Given the description of an element on the screen output the (x, y) to click on. 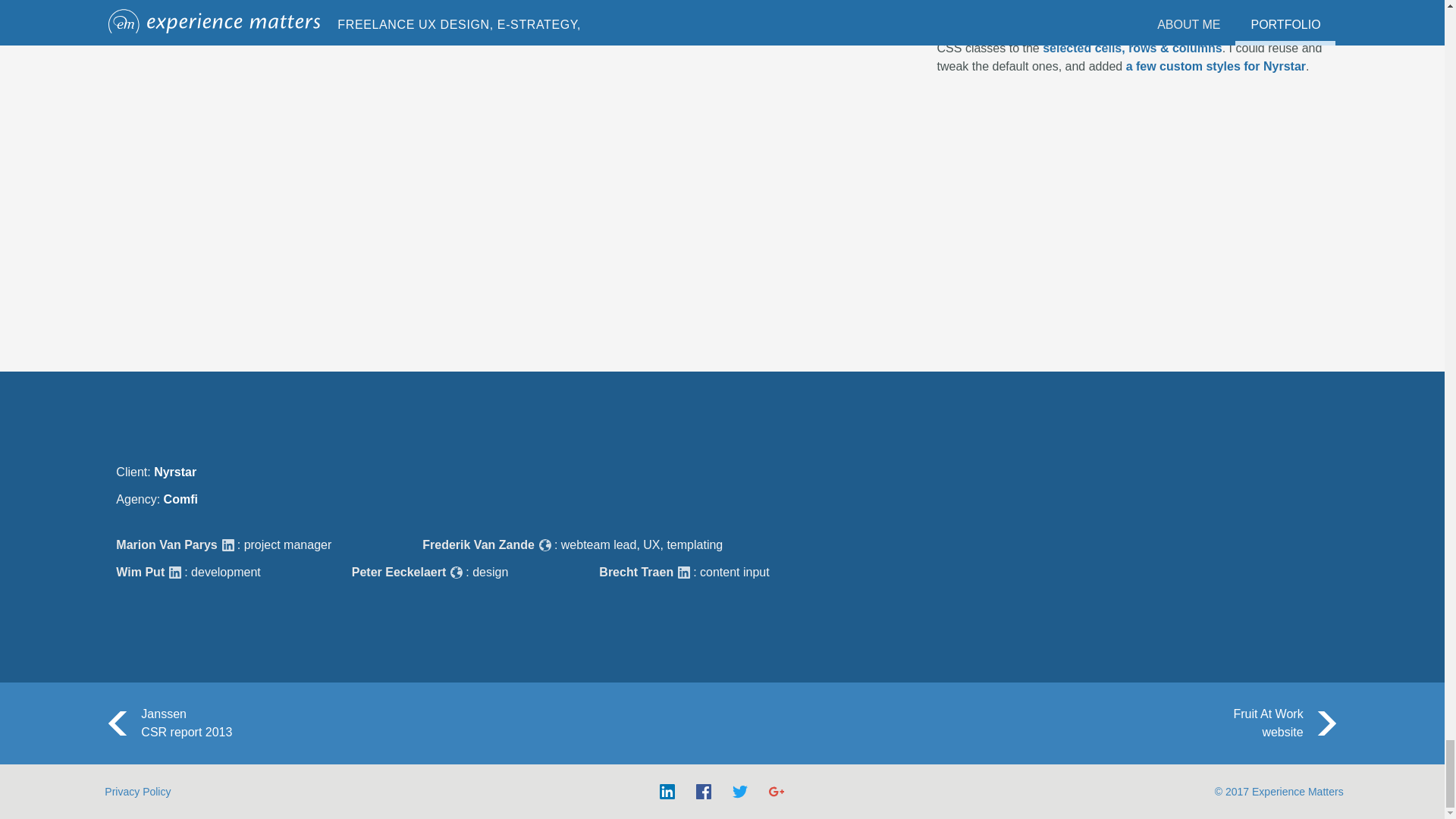
Experience Matters on Google Plus (776, 791)
Frederik Van Zande (478, 544)
Experience Matters on facebook (703, 791)
Brecht Traen (635, 571)
Wim Put (140, 571)
Frederik Van Zande on LinkedIn (667, 791)
Privacy Policy (137, 791)
Peter Eeckelaert (399, 571)
Marion Van Parys (361, 723)
